Given the description of an element on the screen output the (x, y) to click on. 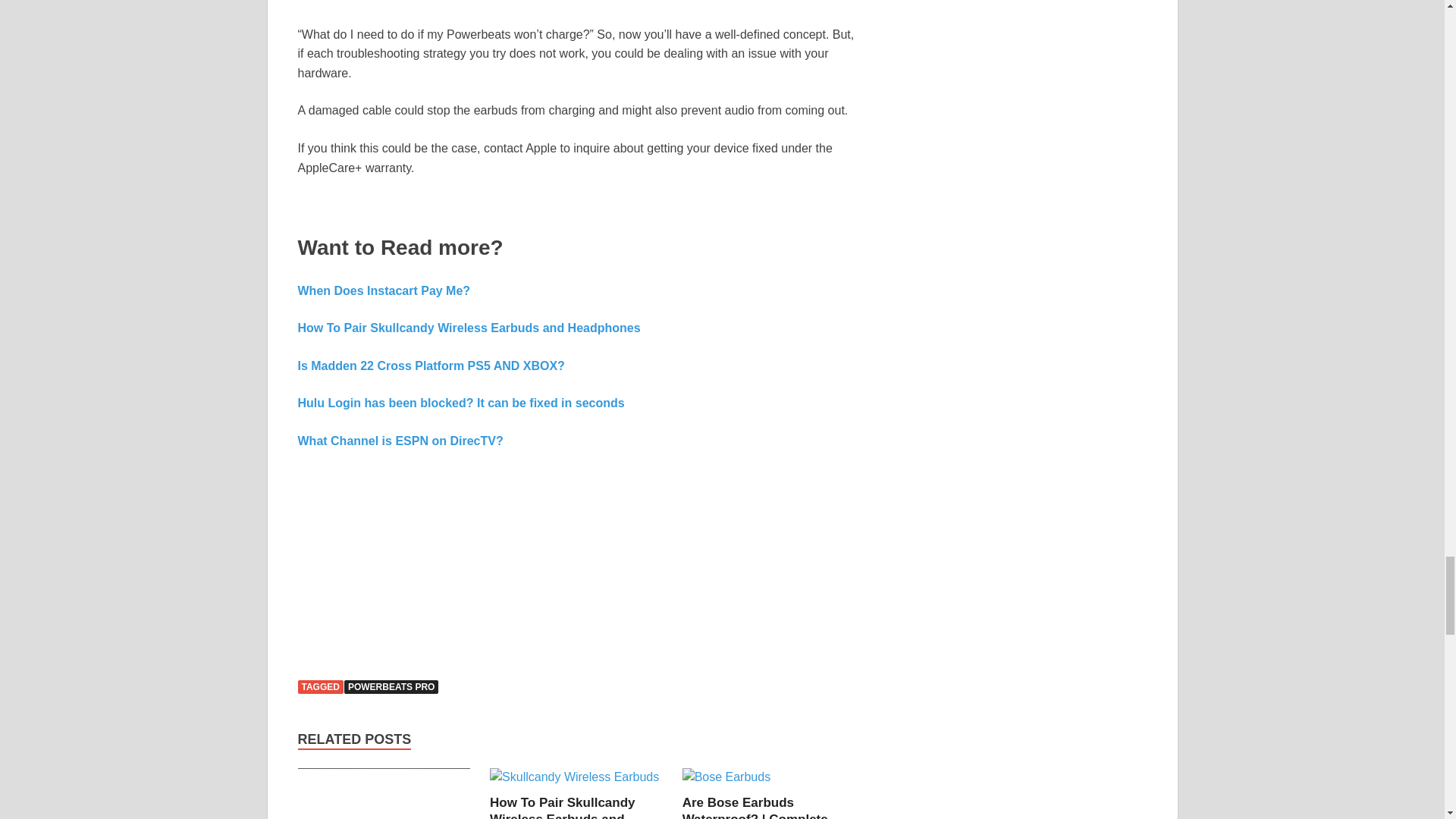
When Does Instacart Pay Me? (383, 290)
How To Pair Skullcandy Wireless Earbuds and Headphones (561, 807)
How To Pair Skullcandy Wireless Earbuds and Headphones (468, 327)
How To Pair Skullcandy Wireless Earbuds and Headphones (574, 776)
Is Madden 22 Cross Platform PS5 AND XBOX? (430, 365)
